Given the description of an element on the screen output the (x, y) to click on. 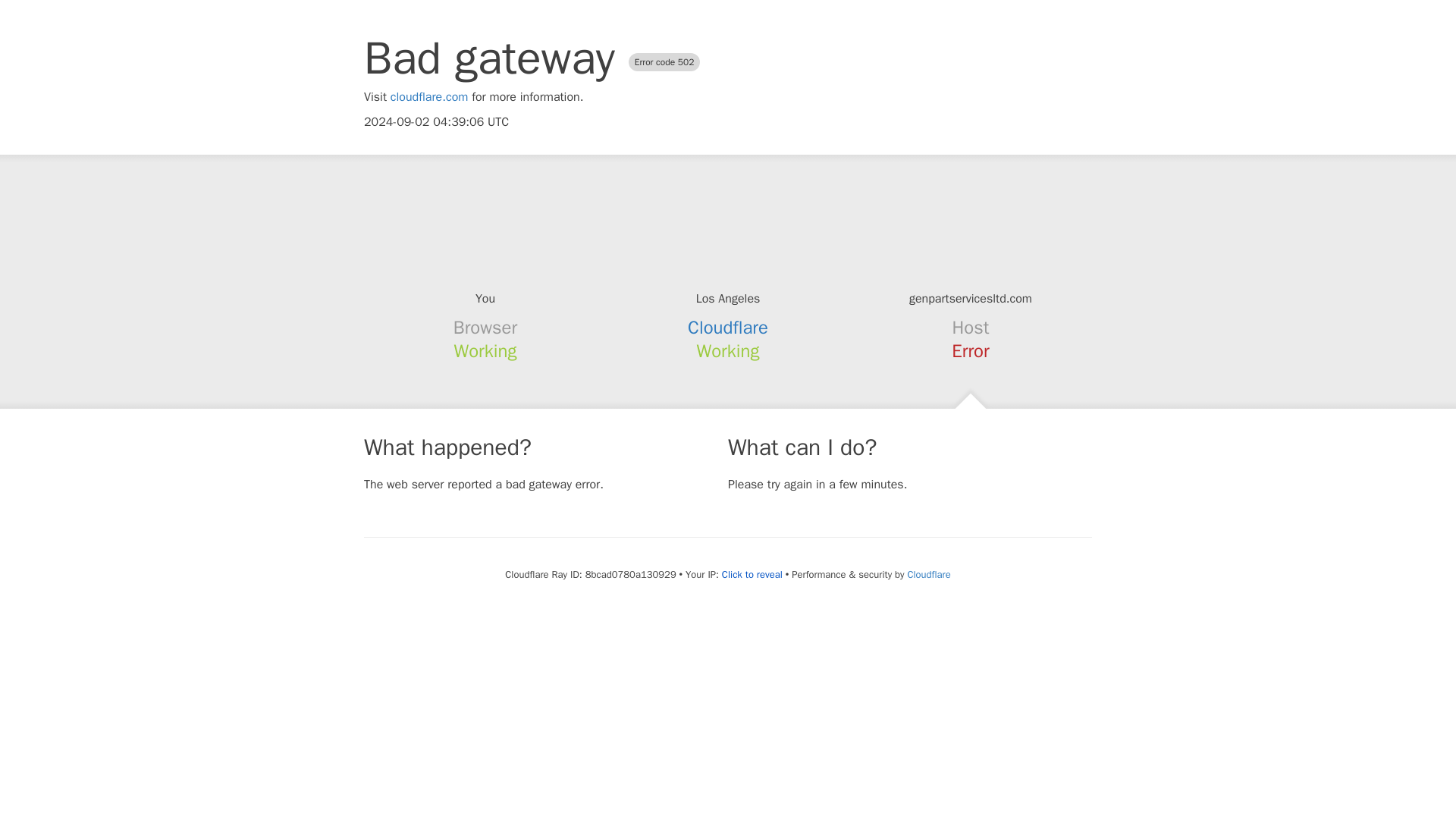
cloudflare.com (429, 96)
Click to reveal (752, 574)
Cloudflare (727, 327)
Cloudflare (928, 574)
